Given the description of an element on the screen output the (x, y) to click on. 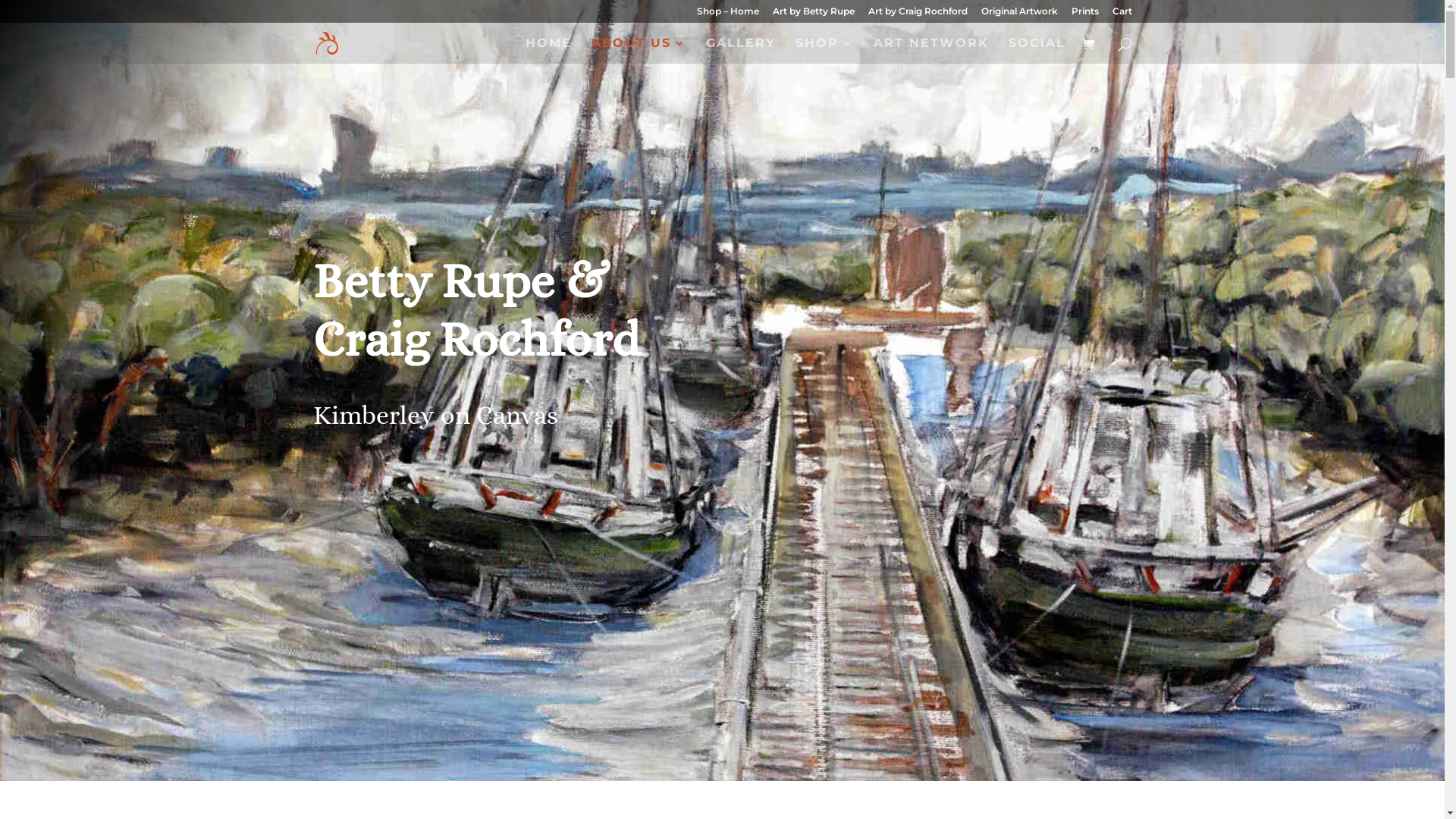
GALLERY Element type: text (740, 50)
Art by Betty Rupe Element type: text (812, 14)
ABOUT US Element type: text (638, 50)
ART NETWORK Element type: text (930, 50)
Cart Element type: text (1121, 14)
Art by Craig Rochford Element type: text (916, 14)
SOCIAL Element type: text (1036, 50)
Prints Element type: text (1084, 14)
SHOP Element type: text (823, 50)
HOME Element type: text (547, 50)
Original Artwork Element type: text (1019, 14)
